Given the description of an element on the screen output the (x, y) to click on. 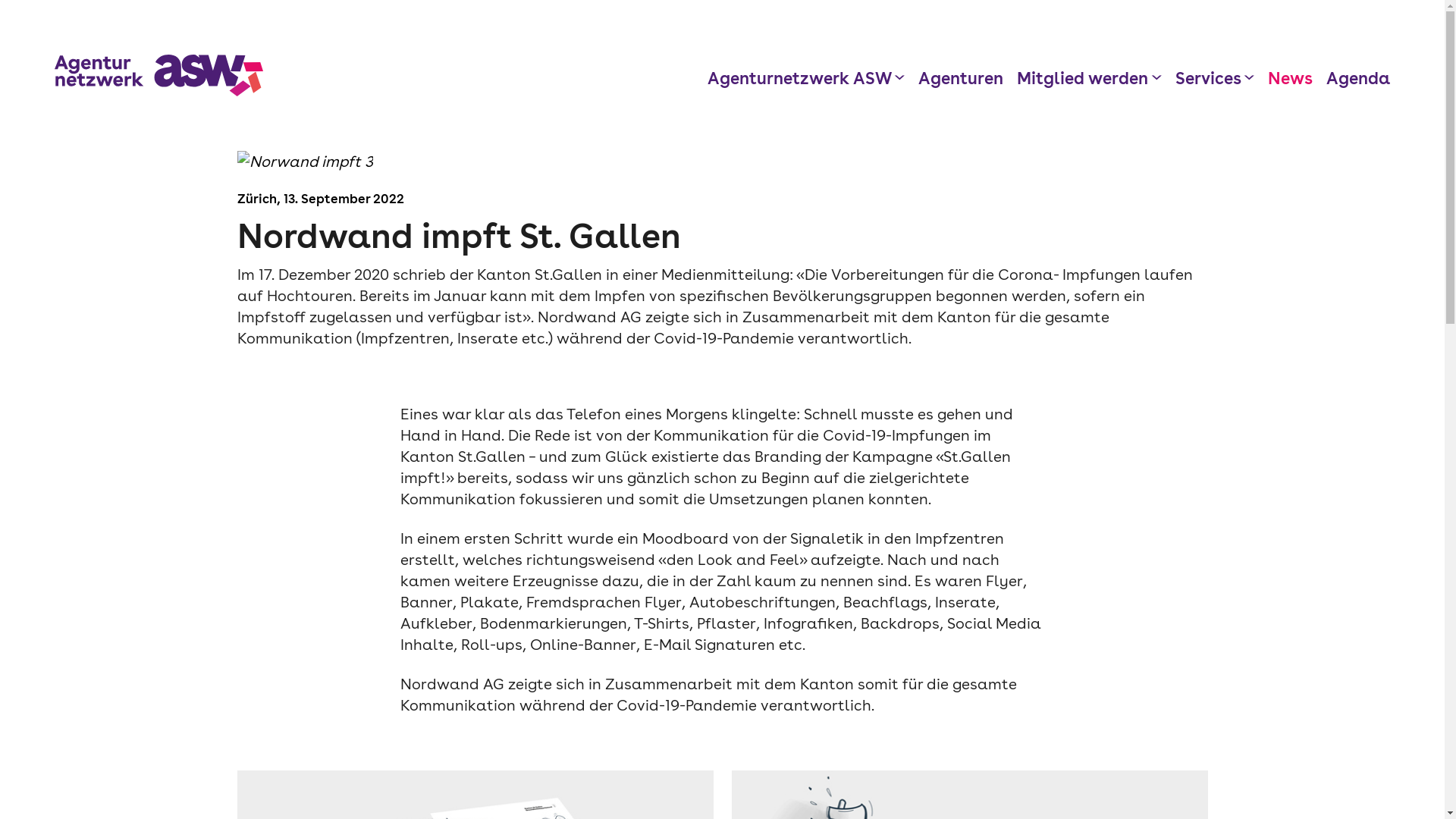
News Element type: text (1289, 77)
Agenturen Element type: text (960, 77)
Agenda Element type: text (1358, 77)
